Given the description of an element on the screen output the (x, y) to click on. 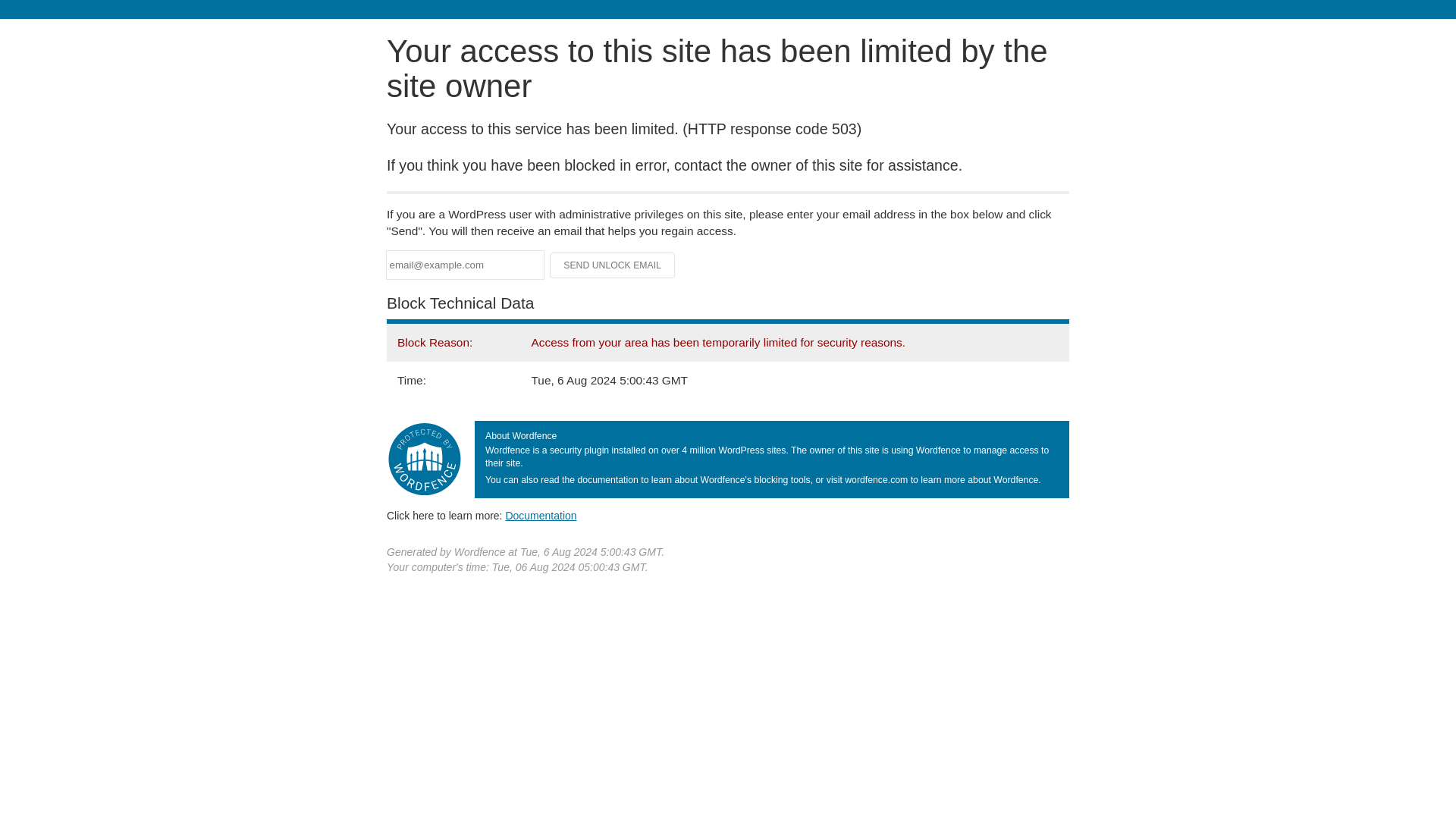
Documentation (540, 515)
Send Unlock Email (612, 265)
Send Unlock Email (612, 265)
